Given the description of an element on the screen output the (x, y) to click on. 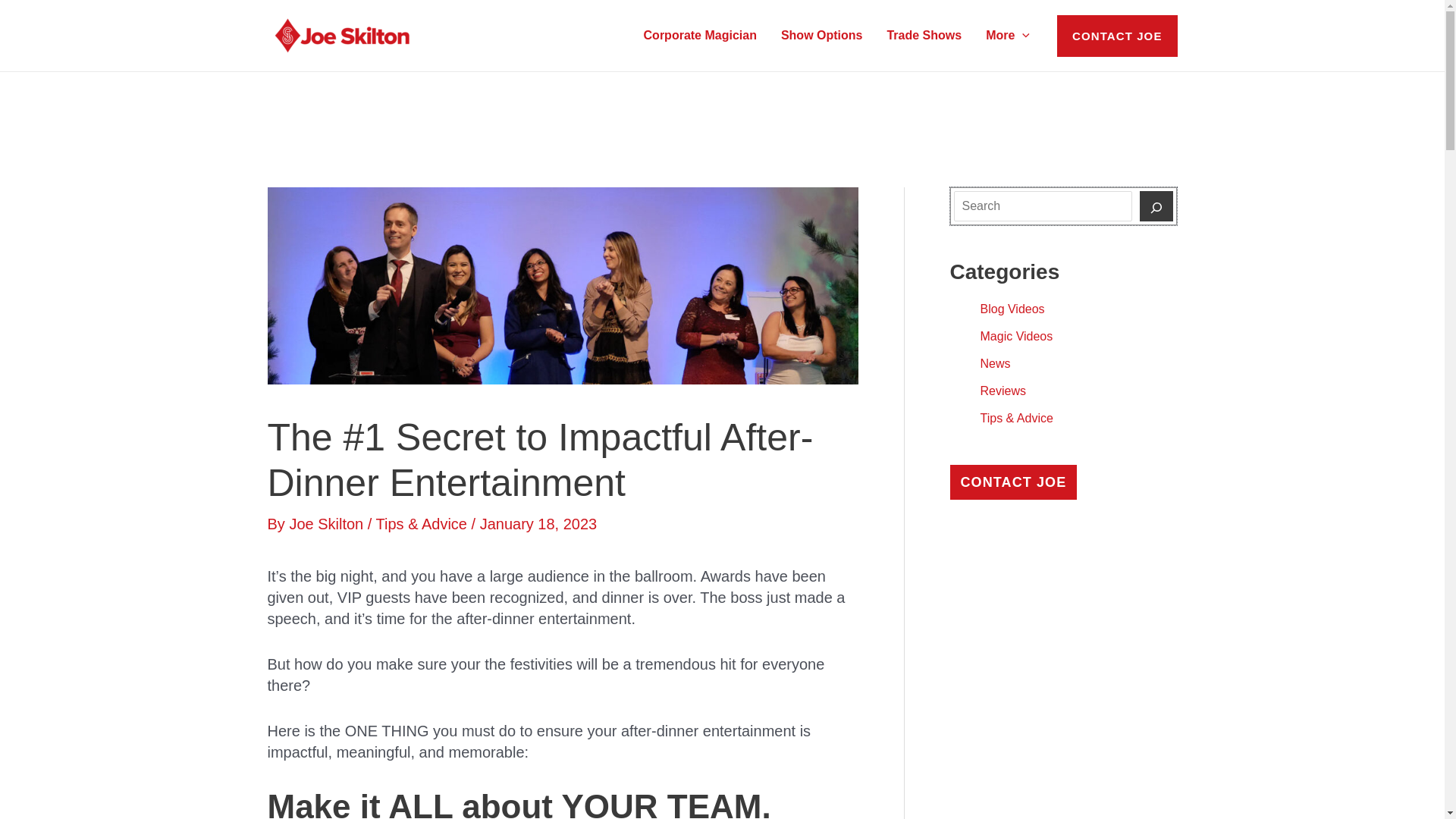
Options for Different Events (821, 35)
CONTACT JOE (1117, 35)
Joe Skilton (327, 523)
Show Options (821, 35)
More (1008, 35)
Magical Trade Show Presentations (924, 35)
Corporate Magician (699, 35)
Trade Shows (924, 35)
